Given the description of an element on the screen output the (x, y) to click on. 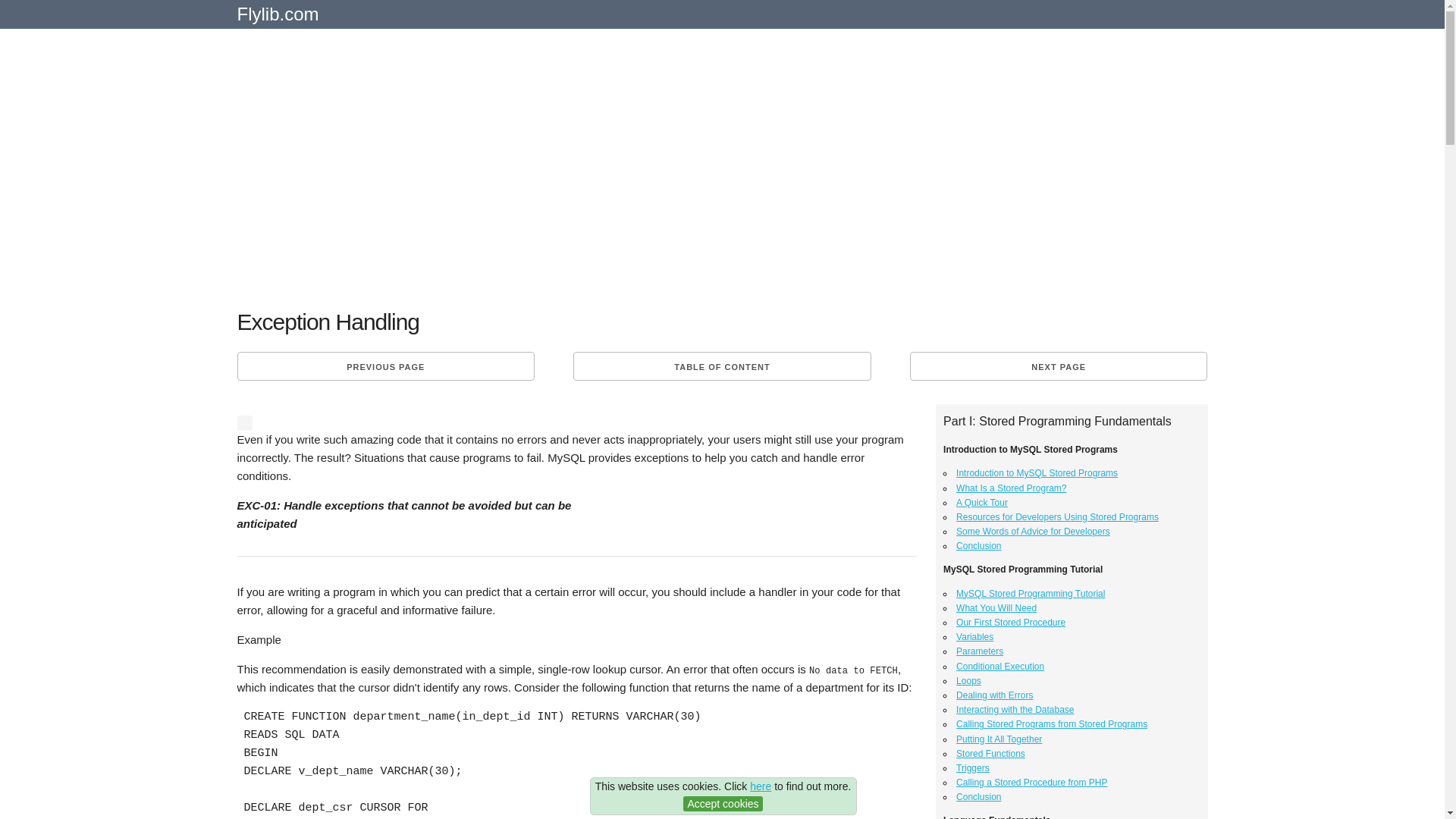
A Quick Tour (981, 502)
Resources for Developers Using Stored Programs (1057, 516)
NEXT PAGE (1059, 366)
Some Words of Advice for Developers (1032, 531)
Calling a Stored Procedure from PHP (1031, 782)
Variables (974, 636)
Interacting with the Database (1015, 709)
PREVIOUS PAGE (384, 366)
Our First Stored Procedure (1010, 622)
